Given the description of an element on the screen output the (x, y) to click on. 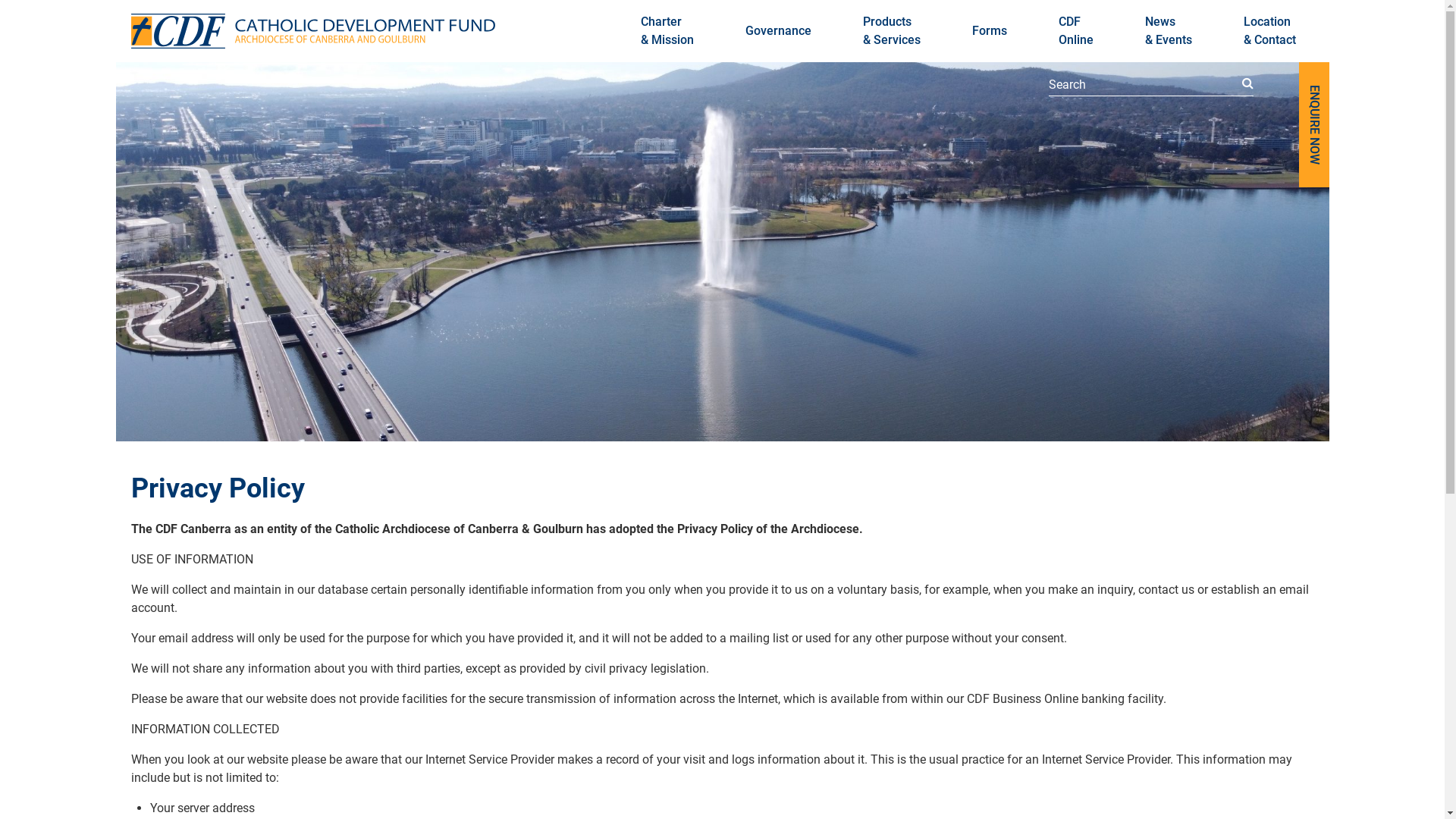
Forms Element type: text (989, 30)
Location
& Contact Element type: text (1269, 31)
ENQUIRE NOW Element type: text (1313, 124)
Products
& Services Element type: text (891, 31)
Charter
& Mission Element type: text (666, 31)
Governance Element type: text (777, 30)
News
& Events Element type: text (1168, 31)
CDF
Online Element type: text (1075, 31)
